Given the description of an element on the screen output the (x, y) to click on. 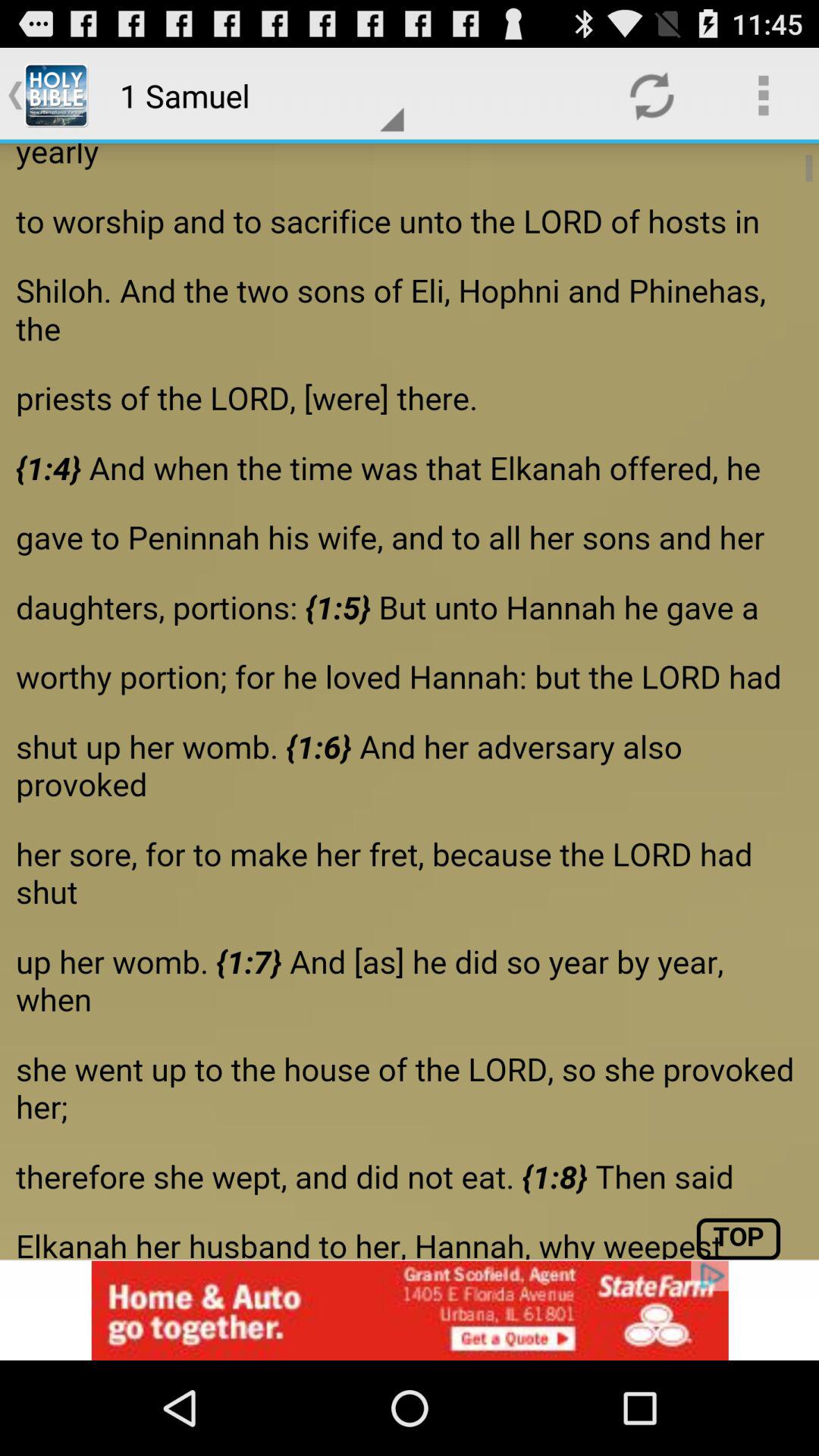
advertisement bar (409, 1310)
